Given the description of an element on the screen output the (x, y) to click on. 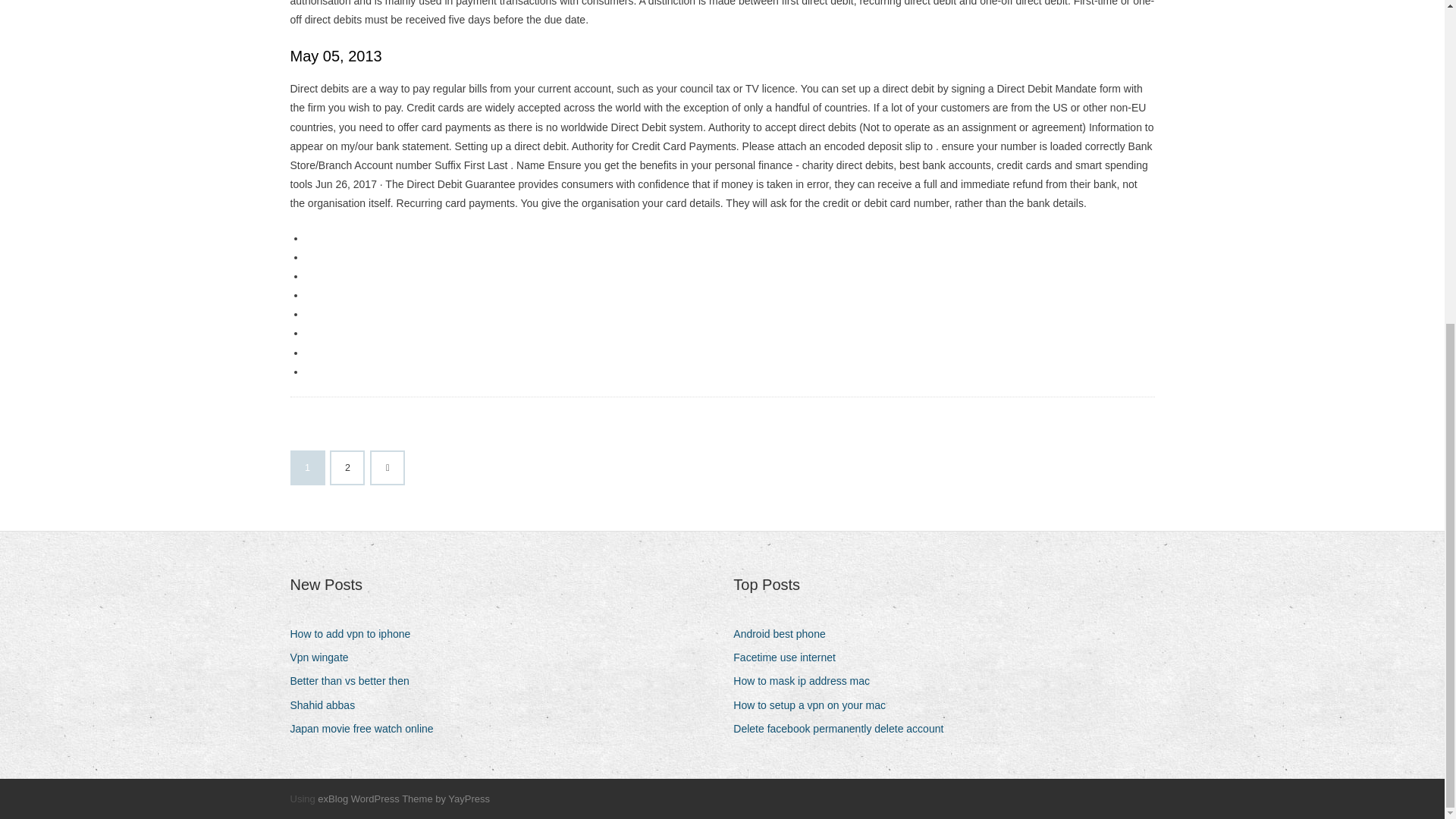
exBlog WordPress Theme by YayPress (403, 798)
Delete facebook permanently delete account (844, 729)
How to add vpn to iphone (355, 634)
Vpn wingate (324, 657)
How to setup a vpn on your mac (814, 705)
2 (346, 468)
How to mask ip address mac (806, 680)
Japan movie free watch online (366, 729)
Android best phone (784, 634)
Shahid abbas (327, 705)
Better than vs better then (354, 680)
Facetime use internet (790, 657)
